Given the description of an element on the screen output the (x, y) to click on. 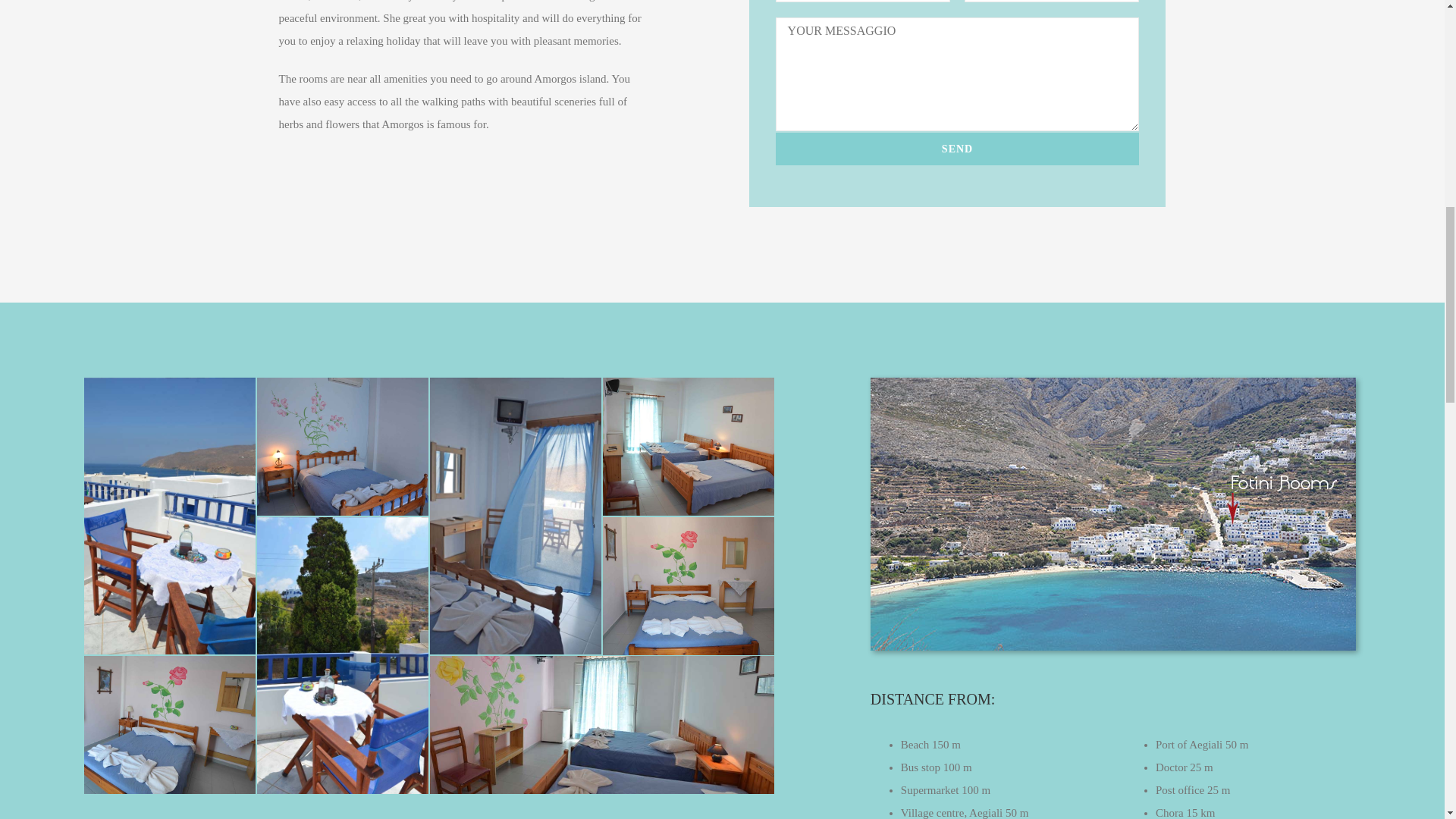
SEND (958, 148)
SEND (958, 148)
Fotini Rent Rooms Amorgos (1112, 513)
